Given the description of an element on the screen output the (x, y) to click on. 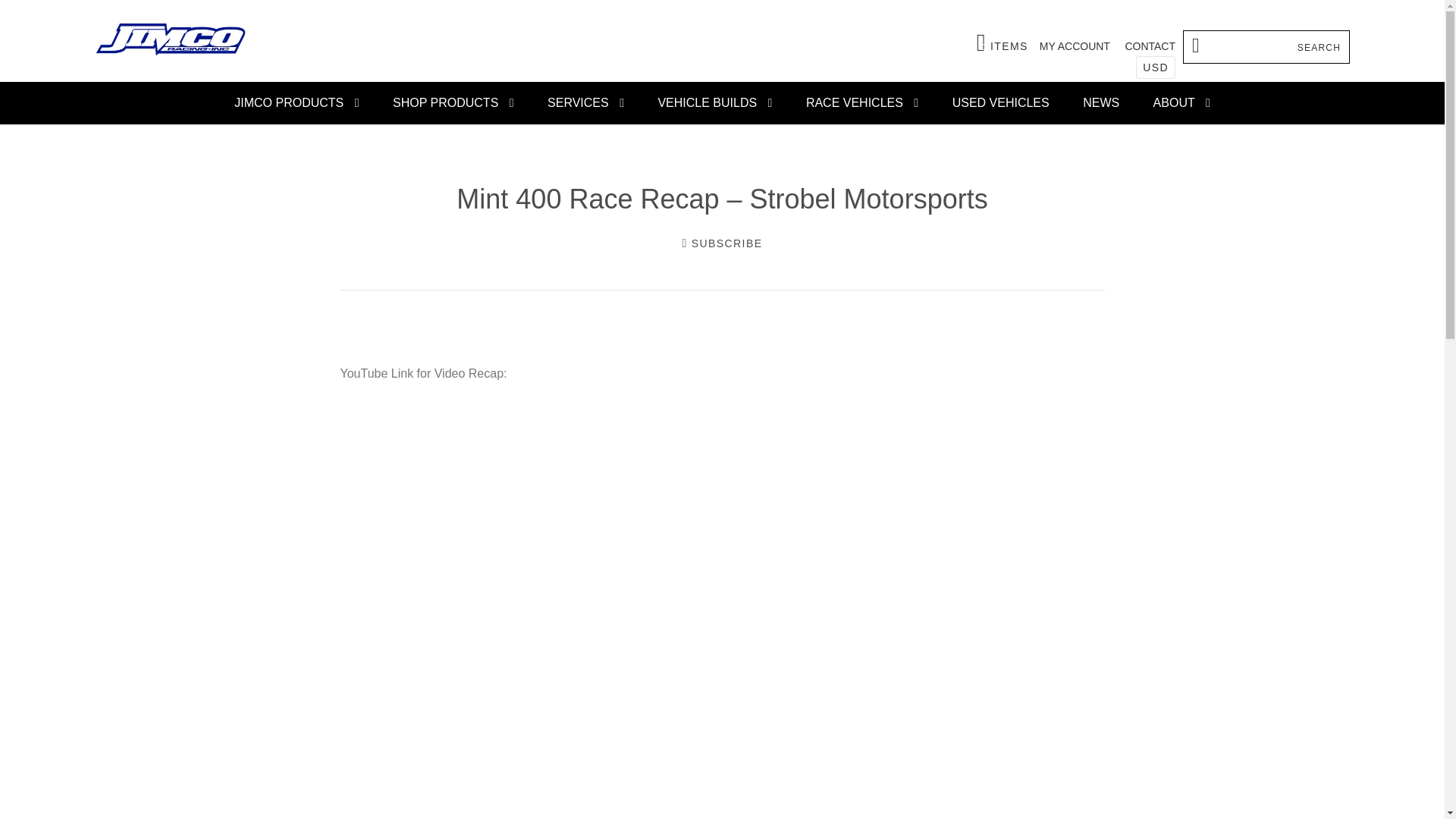
CONTACT (1149, 46)
JIMCO PRODUCTS (296, 102)
MY ACCOUNT (1074, 46)
SHOP PRODUCTS (453, 102)
